Given the description of an element on the screen output the (x, y) to click on. 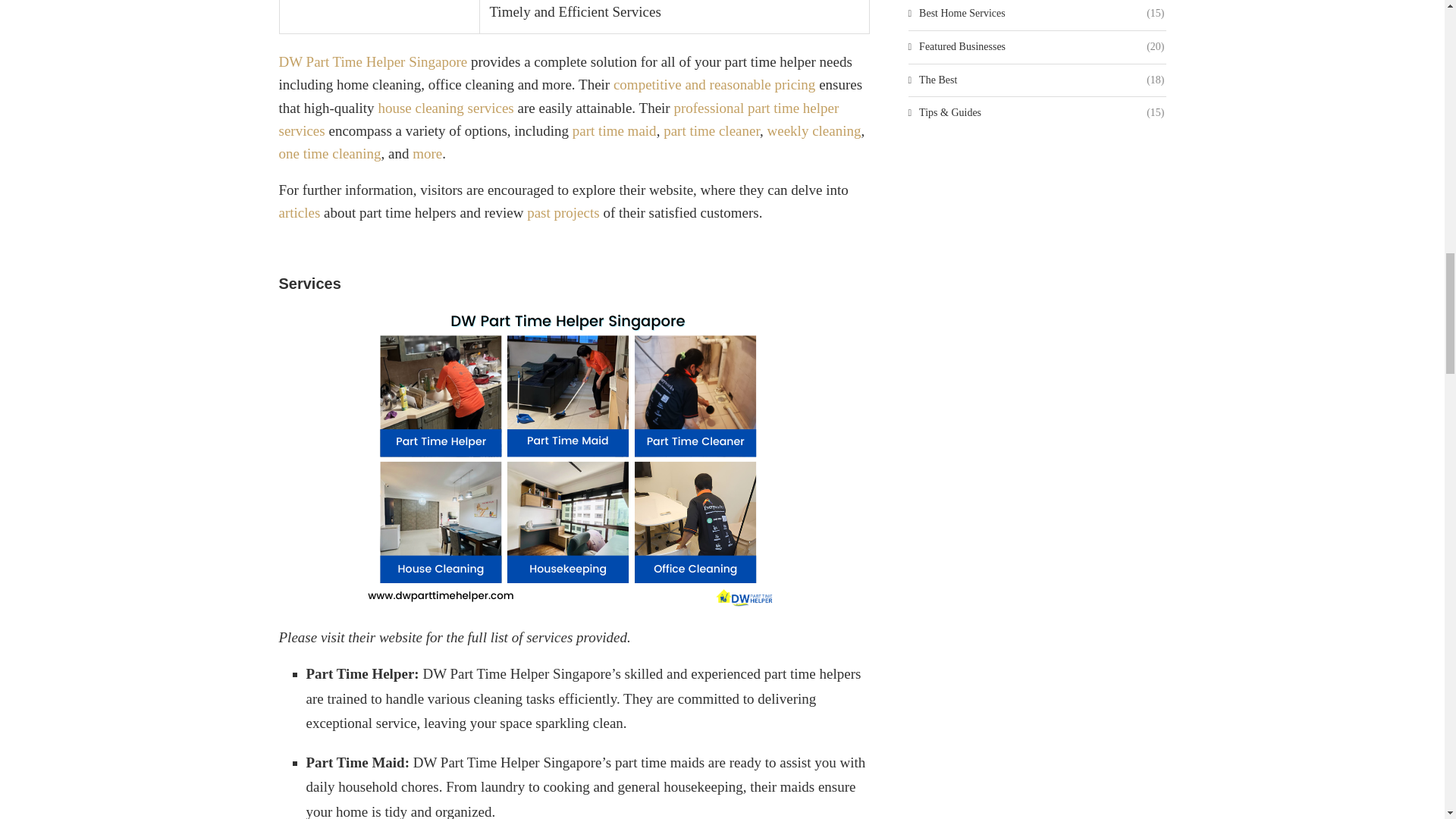
part time cleaner (711, 130)
house cleaning services (445, 107)
part time maid (614, 130)
one time cleaning (330, 153)
articles (299, 212)
more (427, 153)
weekly cleaning (814, 130)
professional part time helper services (559, 118)
past projects (563, 212)
competitive and reasonable pricing (713, 84)
DW Part Time Helper Singapore (373, 61)
